Given the description of an element on the screen output the (x, y) to click on. 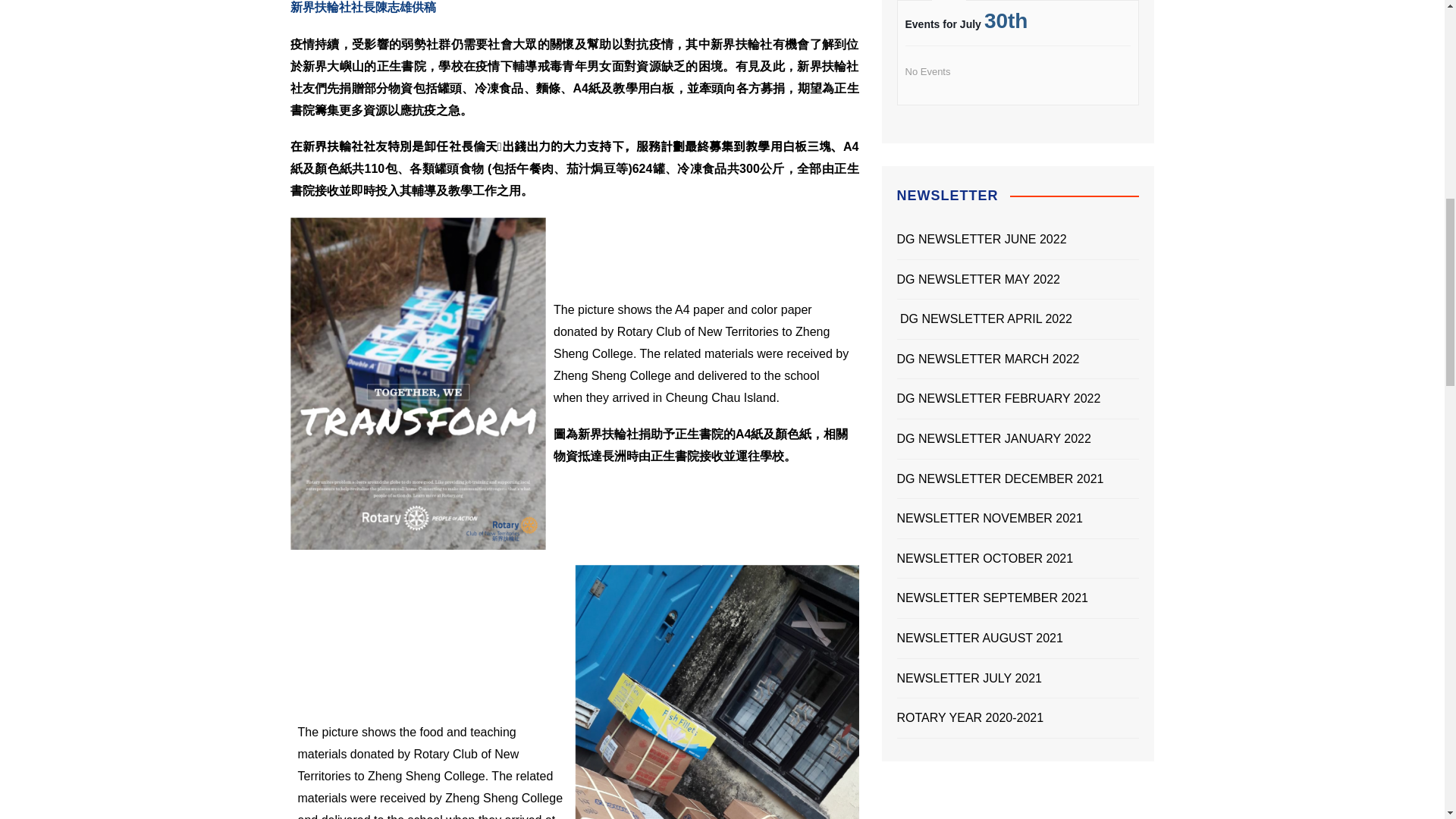
DG NEWSLETTER FEBRUARY 2022 (998, 398)
DG NEWSLETTER MARCH 2022 (987, 359)
DG NEWSLETTER MAY 2022  (979, 279)
 DG NEWSLETTER APRIL 2022 (983, 319)
DG NEWSLETTER JUNE 2022  (983, 239)
